Given the description of an element on the screen output the (x, y) to click on. 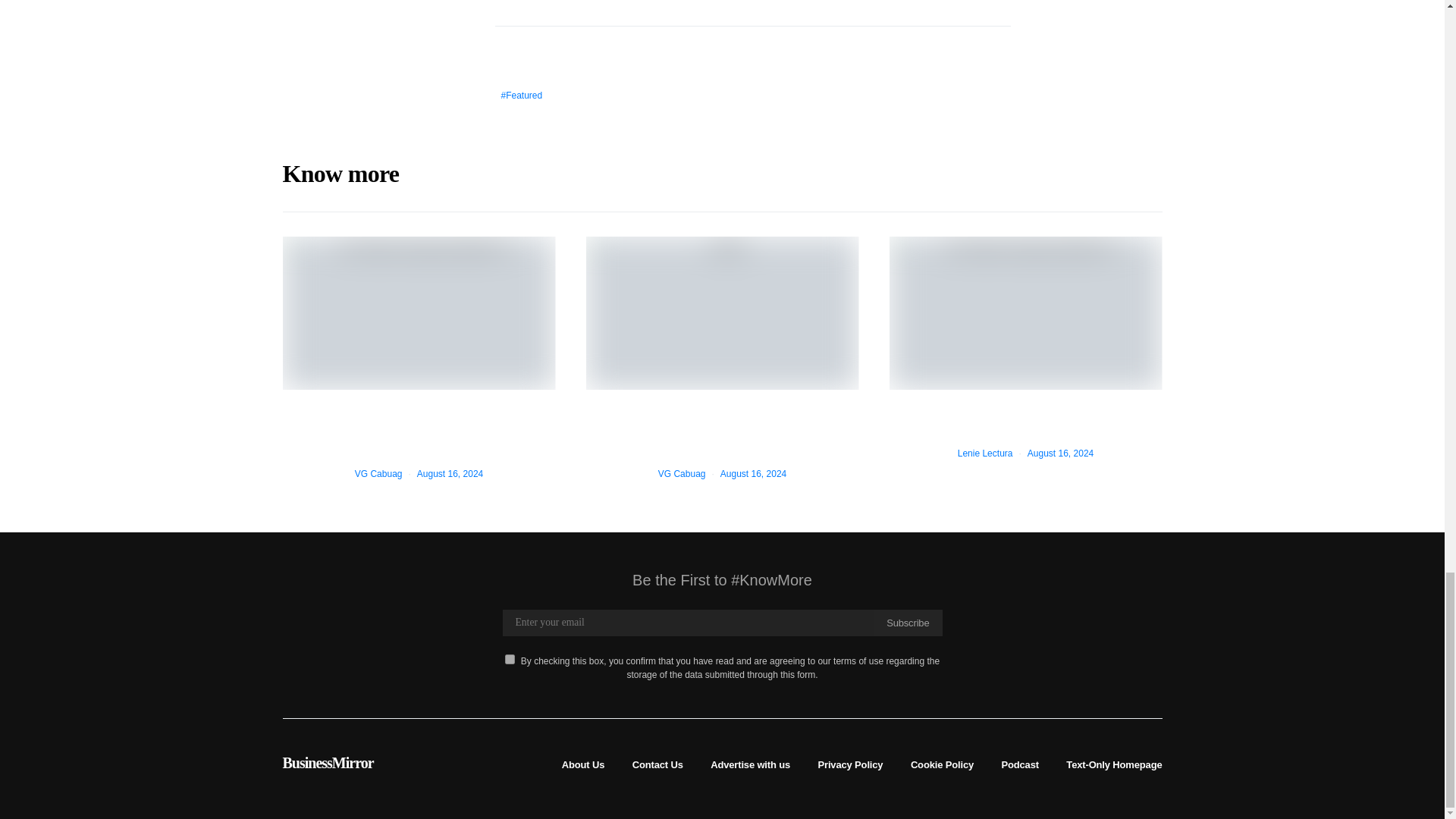
View all posts by Lenie Lectura (985, 452)
View all posts by VG Cabuag (682, 473)
View all posts by VG Cabuag (379, 473)
on (510, 659)
